Given the description of an element on the screen output the (x, y) to click on. 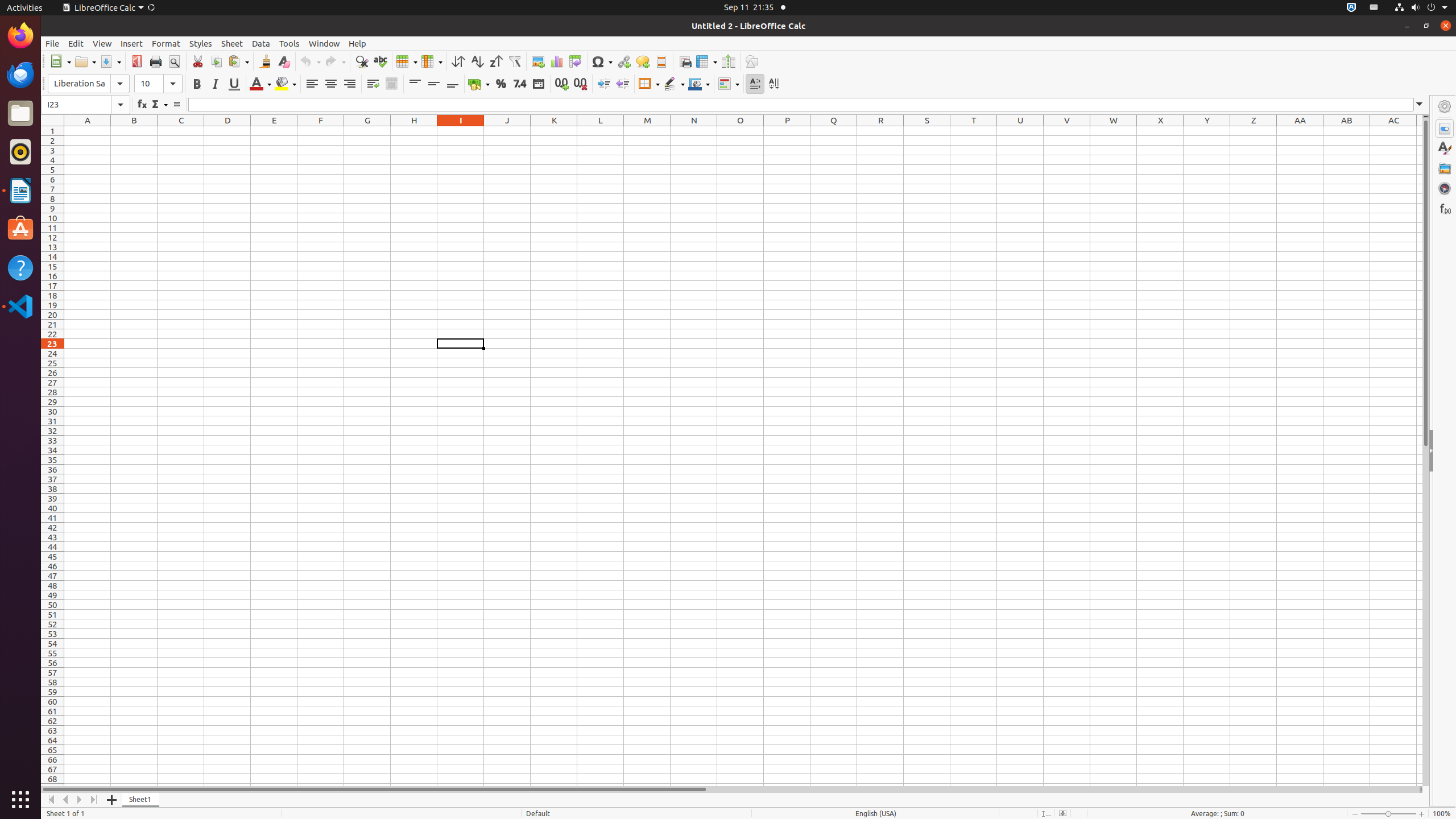
Apply Style Element type: text (41, 73)
Sheet1 Element type: page-tab (140, 799)
Bold Element type: toggle-button (196, 83)
AB1 Element type: table-cell (1346, 130)
Z1 Element type: table-cell (1253, 130)
